Given the description of an element on the screen output the (x, y) to click on. 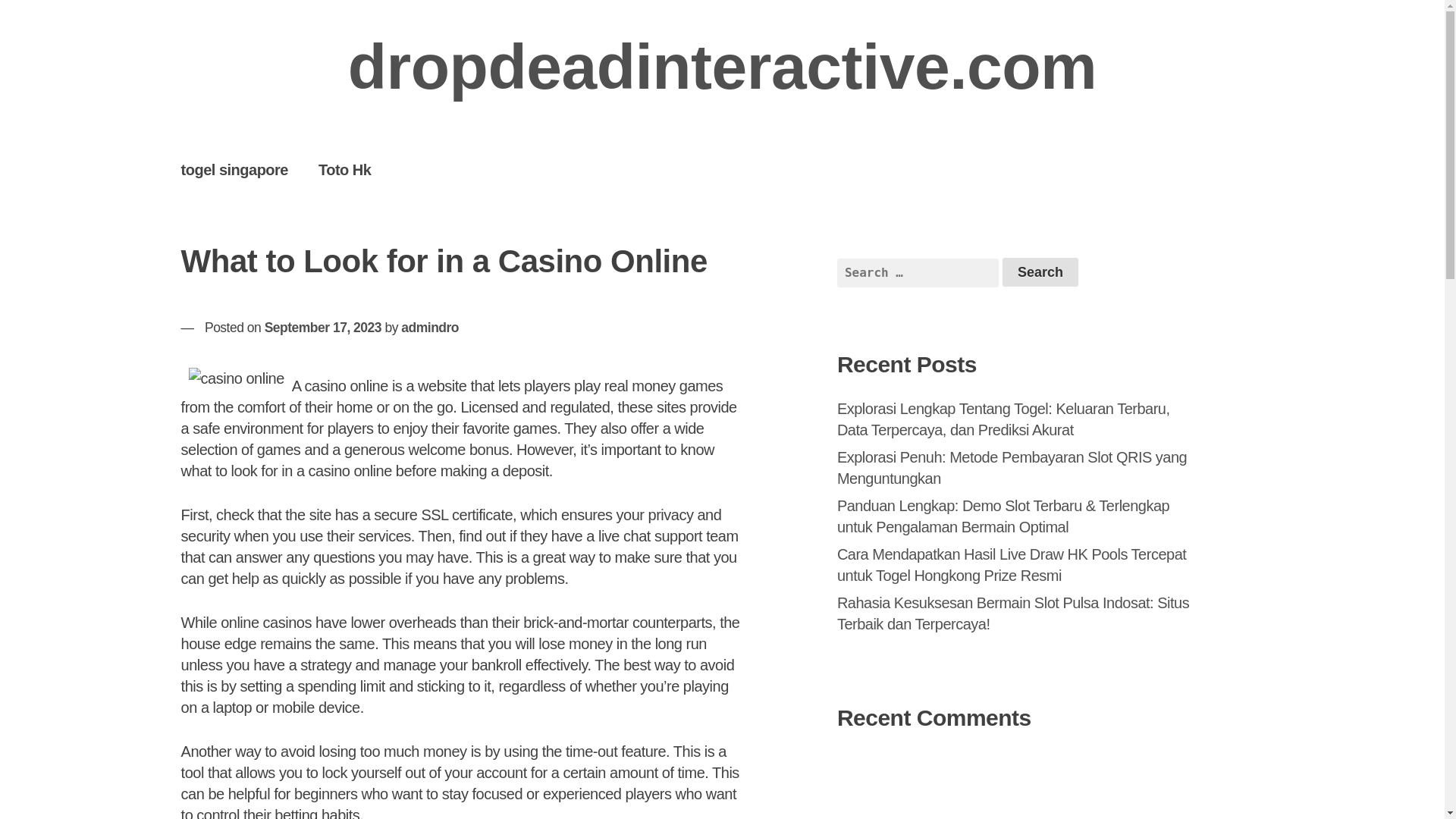
Toto Hk (343, 169)
Search (1040, 271)
Search (1040, 271)
togel singapore (233, 169)
Search (1040, 271)
admindro (429, 327)
dropdeadinteractive.com (721, 66)
September 17, 2023 (322, 327)
